Given the description of an element on the screen output the (x, y) to click on. 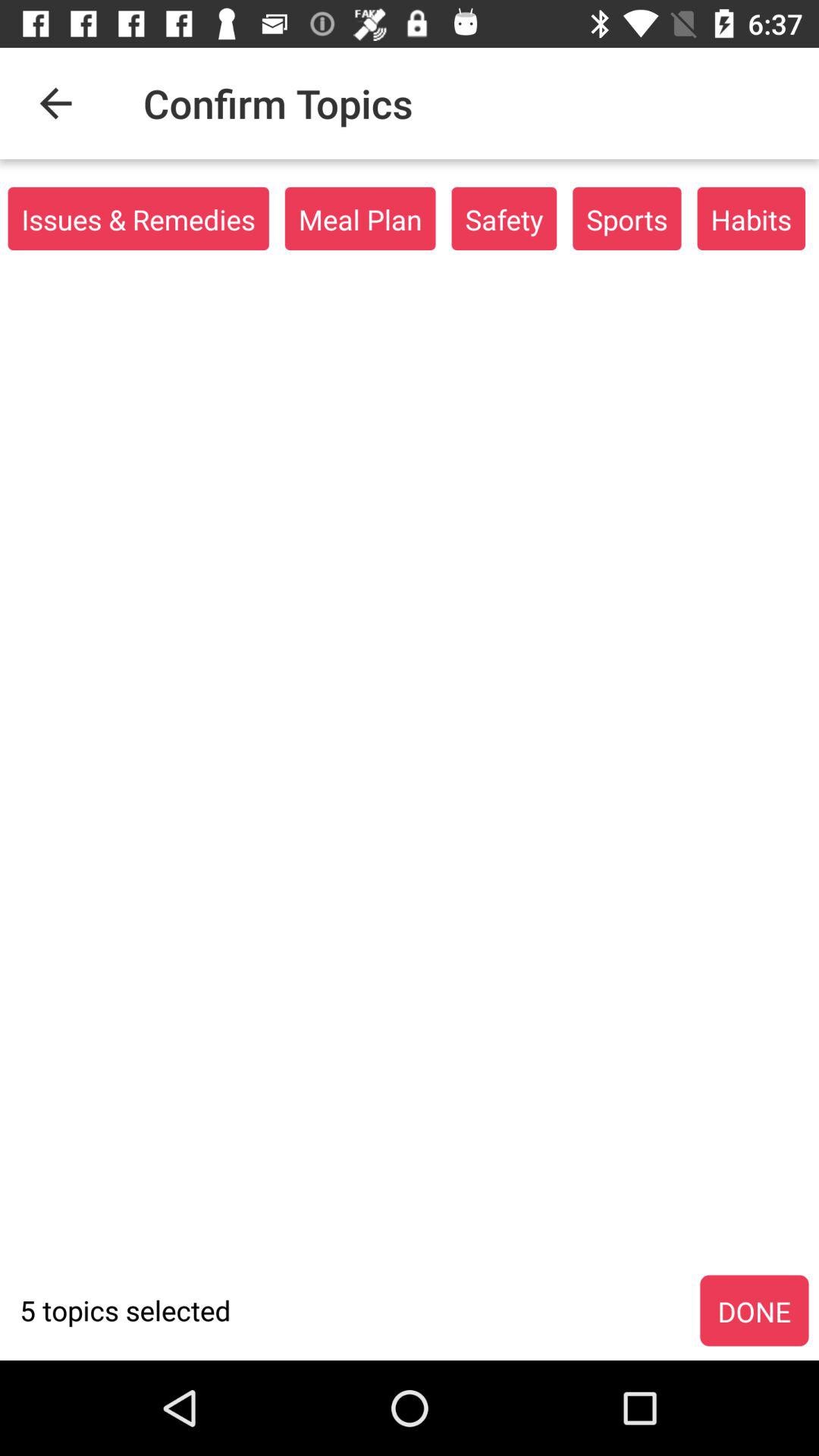
select item to the left of the confirm topics item (55, 103)
